Given the description of an element on the screen output the (x, y) to click on. 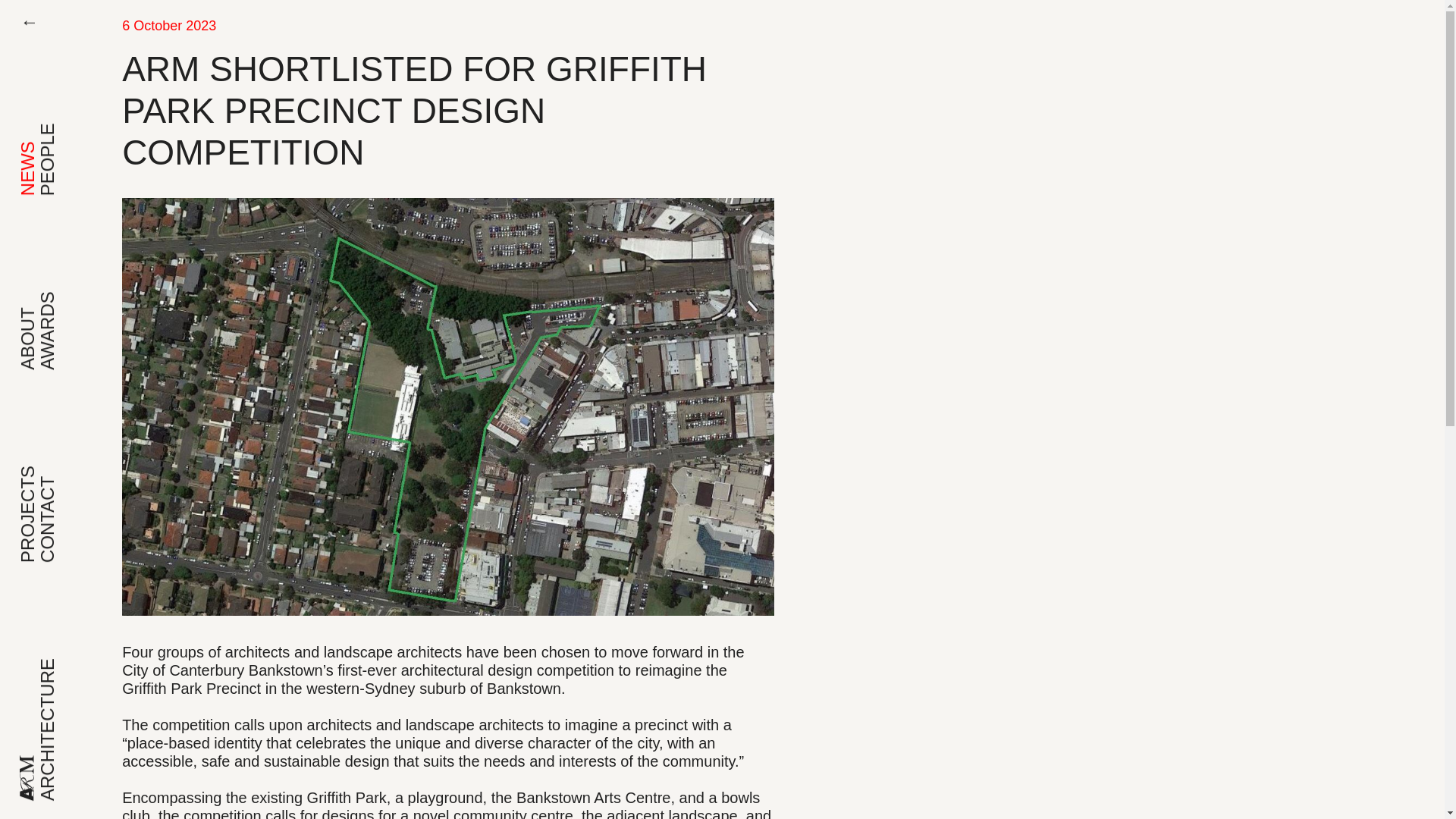
ABOUT (48, 317)
PROJECTS (66, 476)
CONTACT (80, 485)
AWARDS (76, 301)
NEWS (44, 150)
PEOPLE (73, 132)
ARCHITECTURE (88, 678)
